Given the description of an element on the screen output the (x, y) to click on. 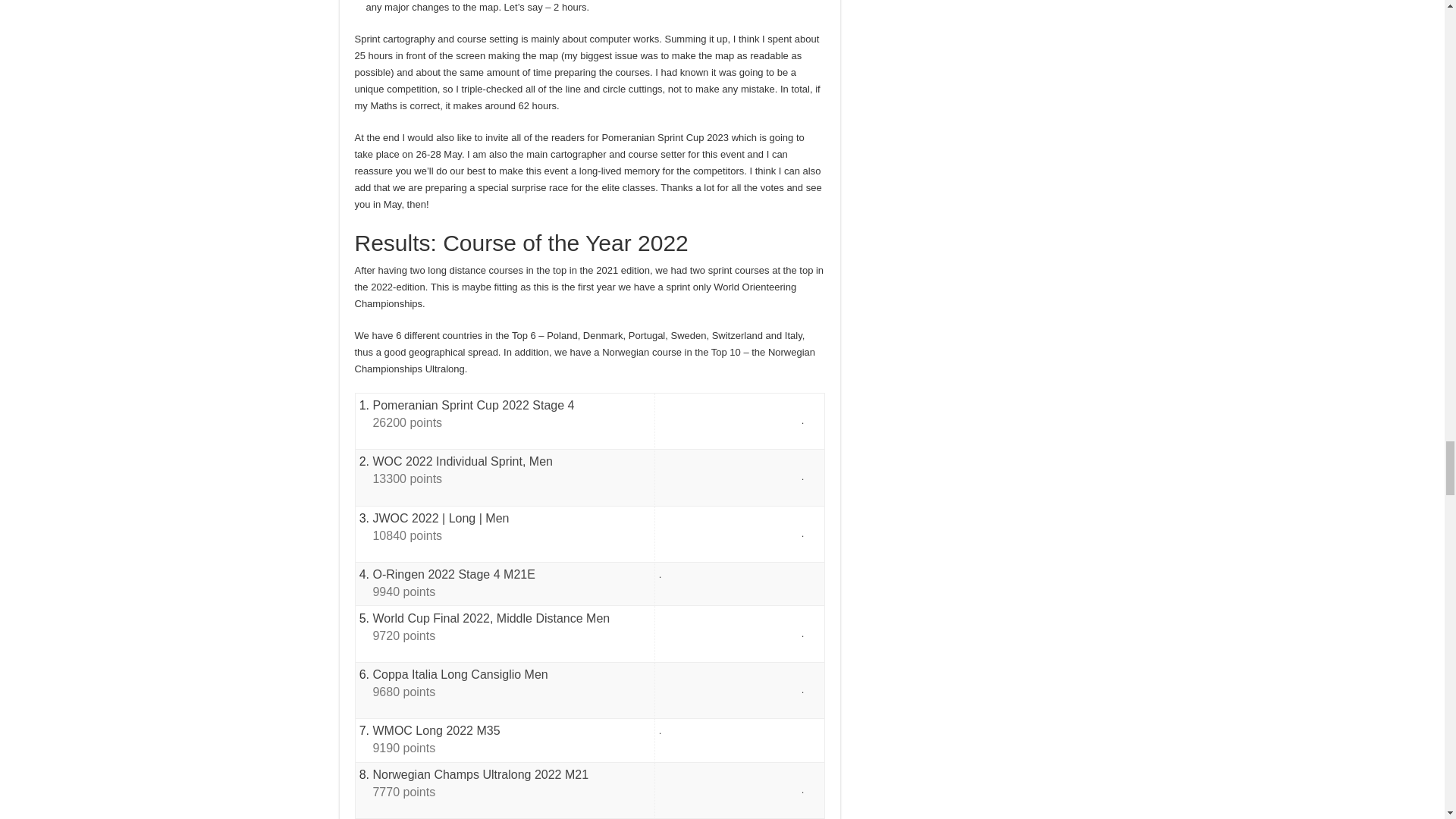
Coppa Italia Long Cansiglio Men (459, 674)
O-Ringen 2022 Stage 4 M21E (453, 574)
Pomeranian Sprint Cup 2022 Stage 4 (472, 404)
WOC 2022 Individual Sprint, Men (461, 461)
WMOC Long 2022 M35 (435, 730)
World Cup Final 2022, Middle Distance Men (491, 617)
